Given the description of an element on the screen output the (x, y) to click on. 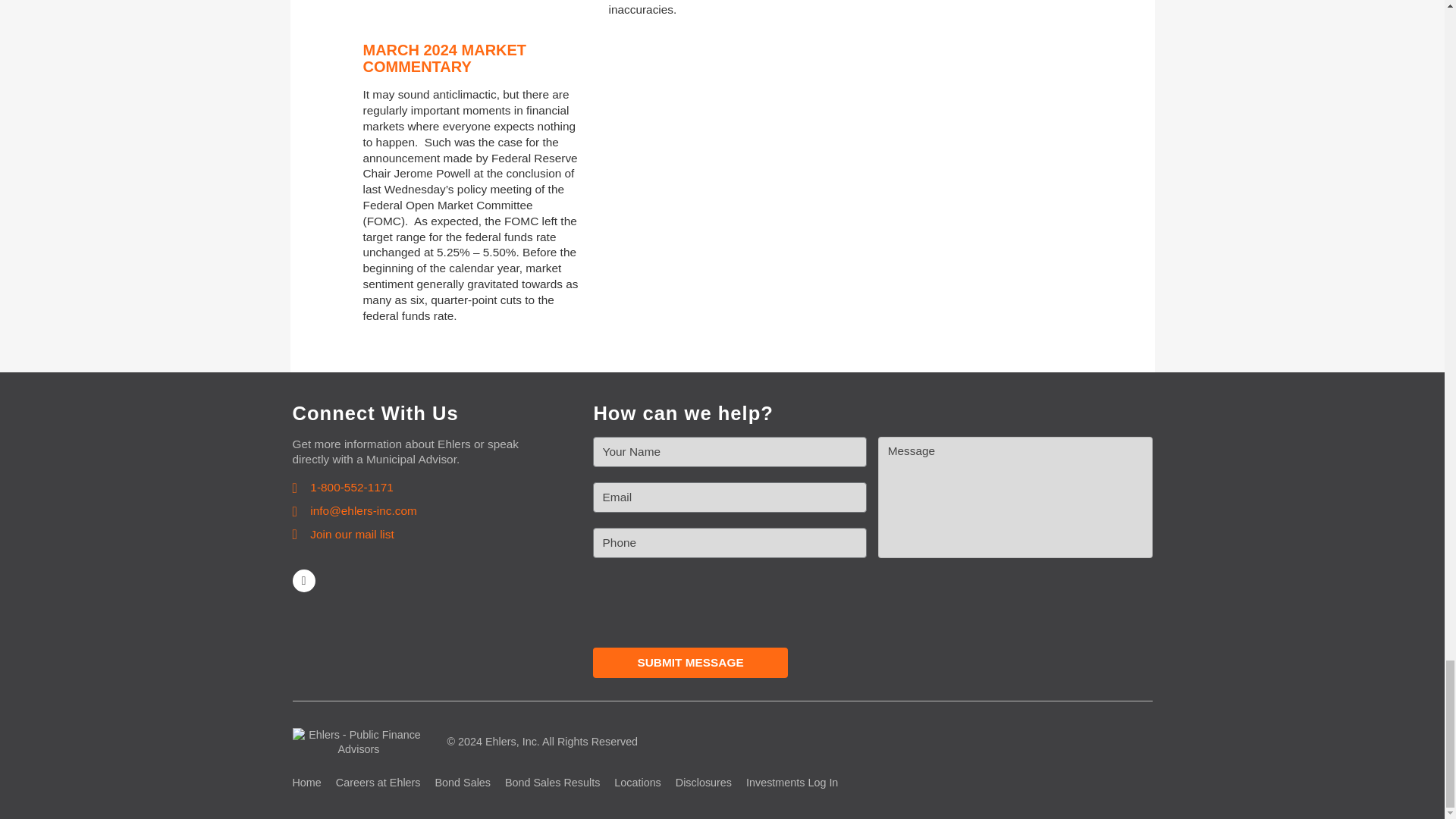
Careers at Ehlers (378, 782)
Submit Message (689, 662)
Locations (637, 782)
Disclosures (703, 782)
Home (306, 782)
MARCH 2024 MARKET COMMENTARY (443, 58)
Bond Sales (462, 782)
Investments Log In (791, 782)
    Join our mail list (343, 534)
Bond Sales Results (552, 782)
